Given the description of an element on the screen output the (x, y) to click on. 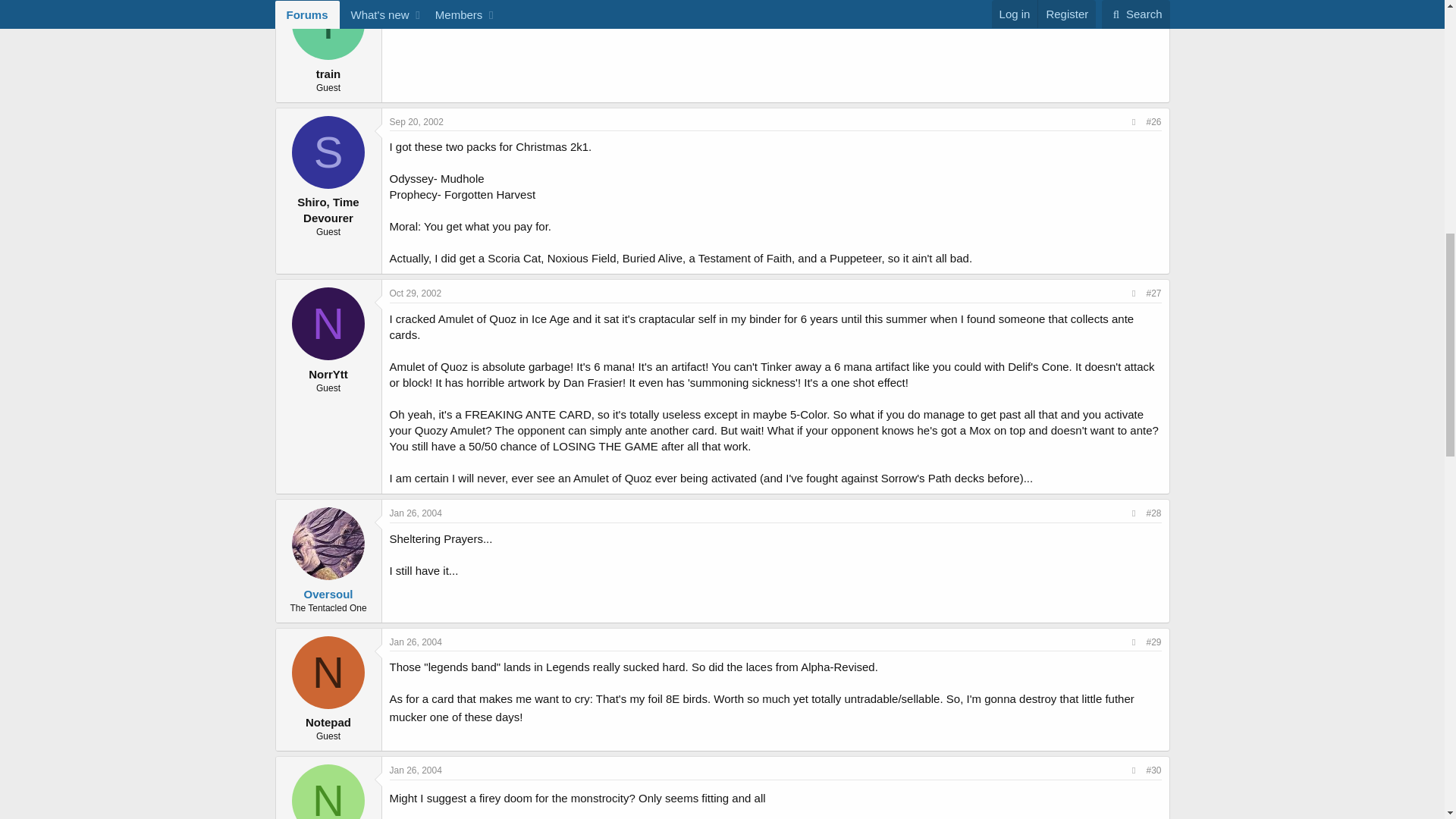
Big grin    :D (534, 714)
Oct 29, 2002 at 4:40 AM (416, 293)
Jan 26, 2004 at 8:31 AM (416, 769)
Sep 20, 2002 at 8:14 AM (417, 122)
Roll eyes    :rolleyes: (777, 795)
Jan 26, 2004 at 3:47 AM (416, 512)
Jan 26, 2004 at 4:01 AM (416, 642)
